Given the description of an element on the screen output the (x, y) to click on. 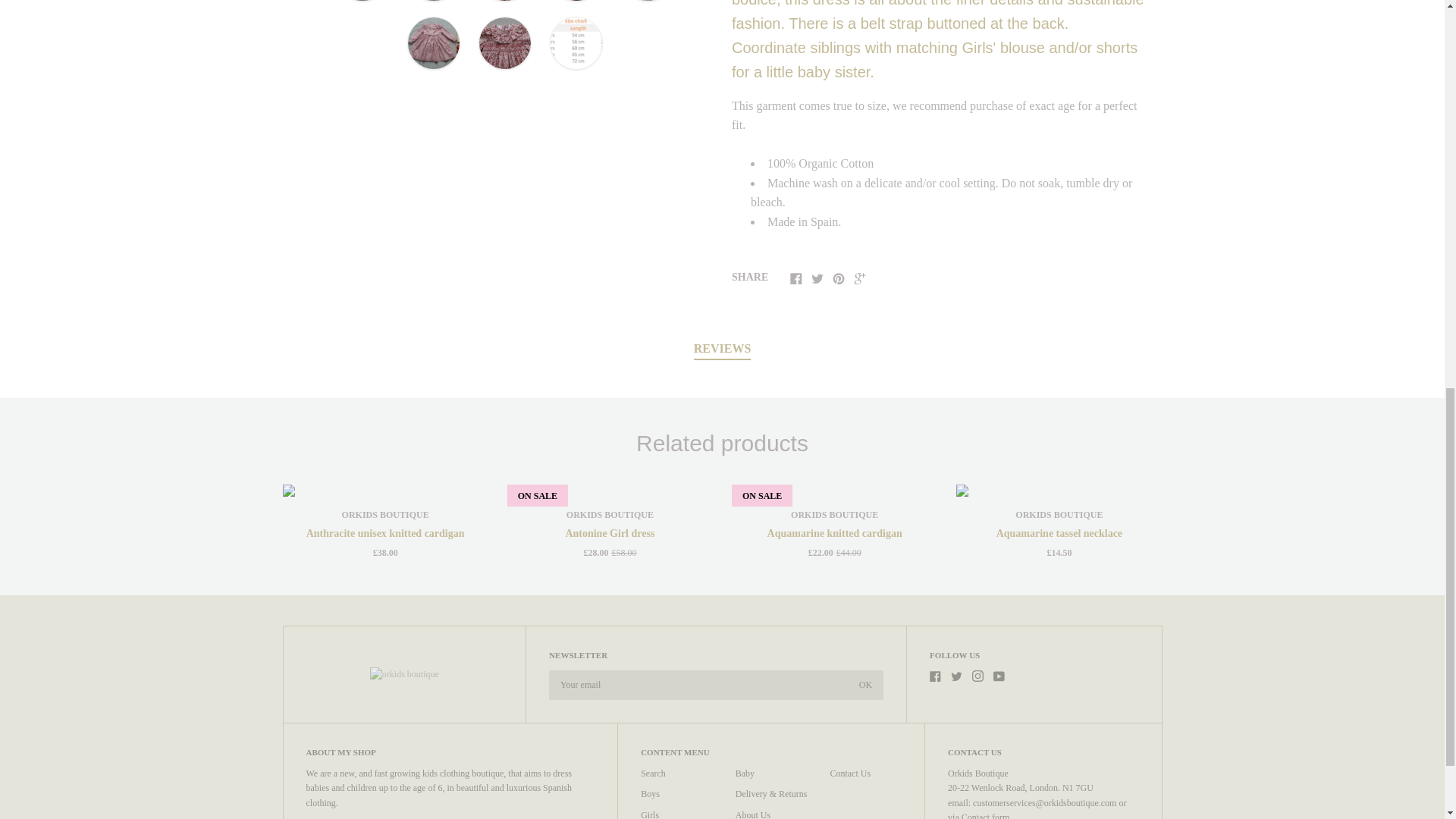
Pinterest (838, 277)
OK (865, 685)
Facebook (935, 675)
Facebook (796, 277)
YouTube (998, 675)
Twitter (817, 277)
Twitter (956, 675)
Instagram (978, 675)
